Given the description of an element on the screen output the (x, y) to click on. 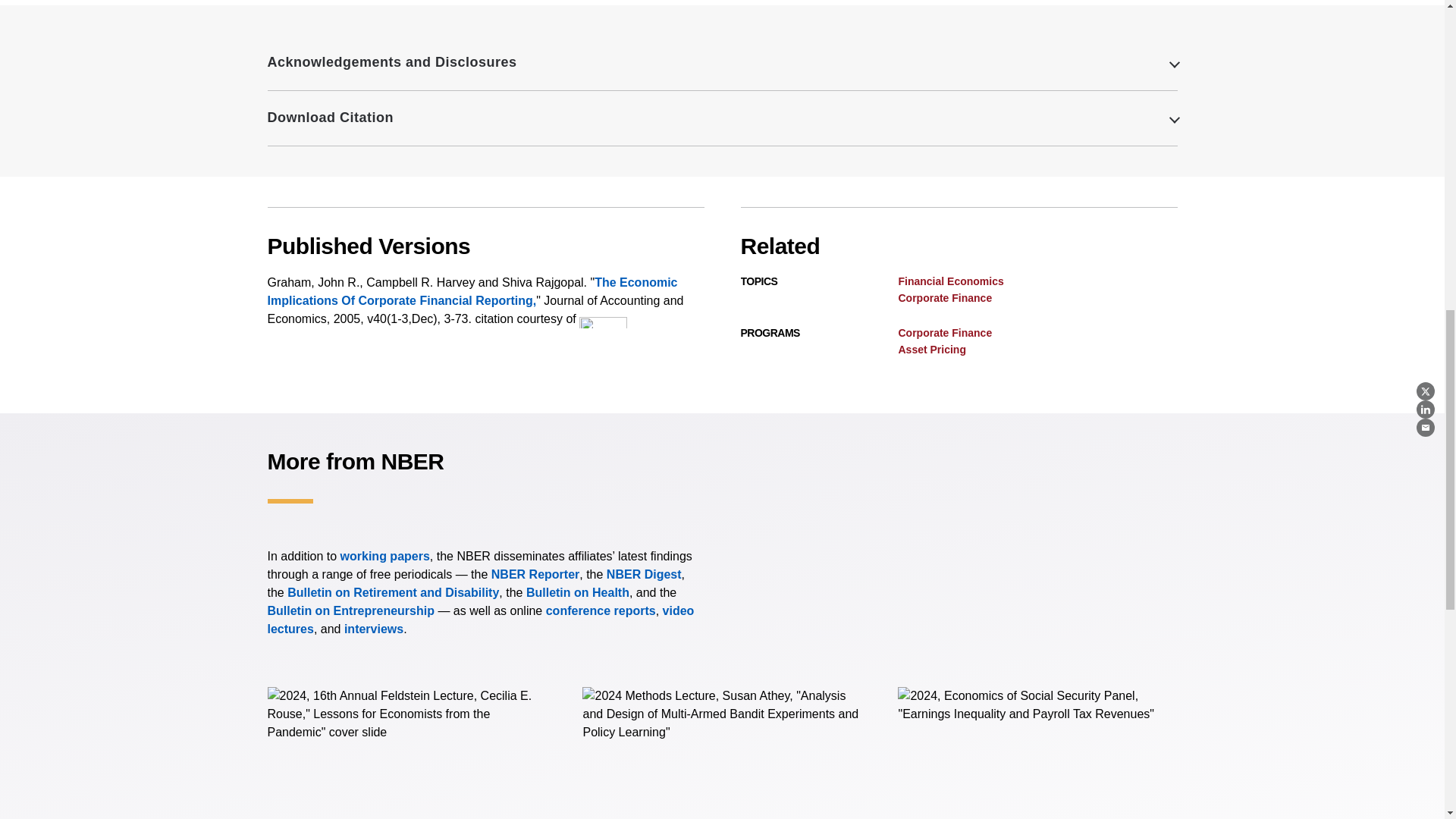
Research Spotlights (373, 628)
Working Papers (384, 555)
Lectures (480, 619)
Conferences (601, 610)
